Given the description of an element on the screen output the (x, y) to click on. 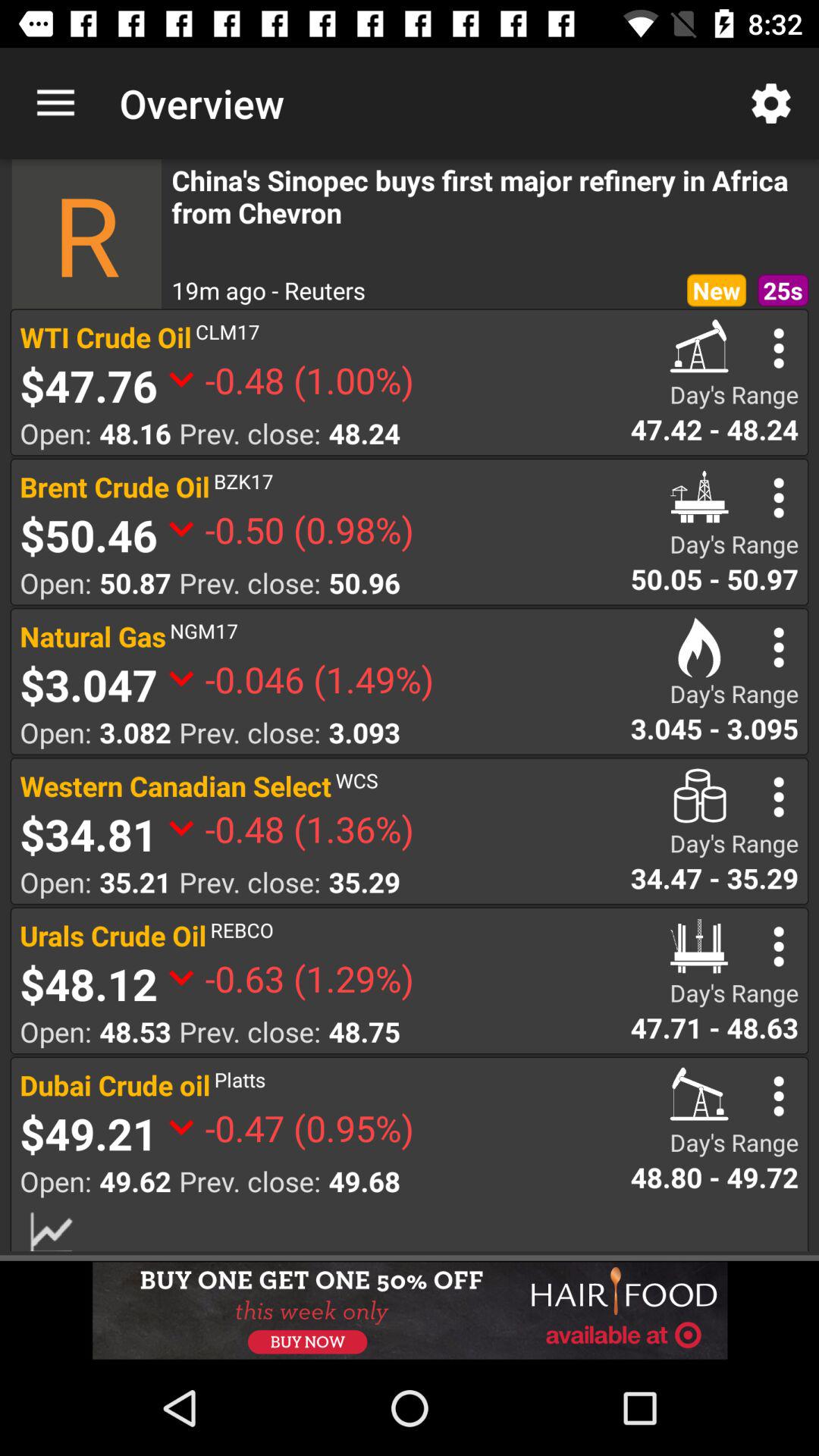
go to search (778, 348)
